Given the description of an element on the screen output the (x, y) to click on. 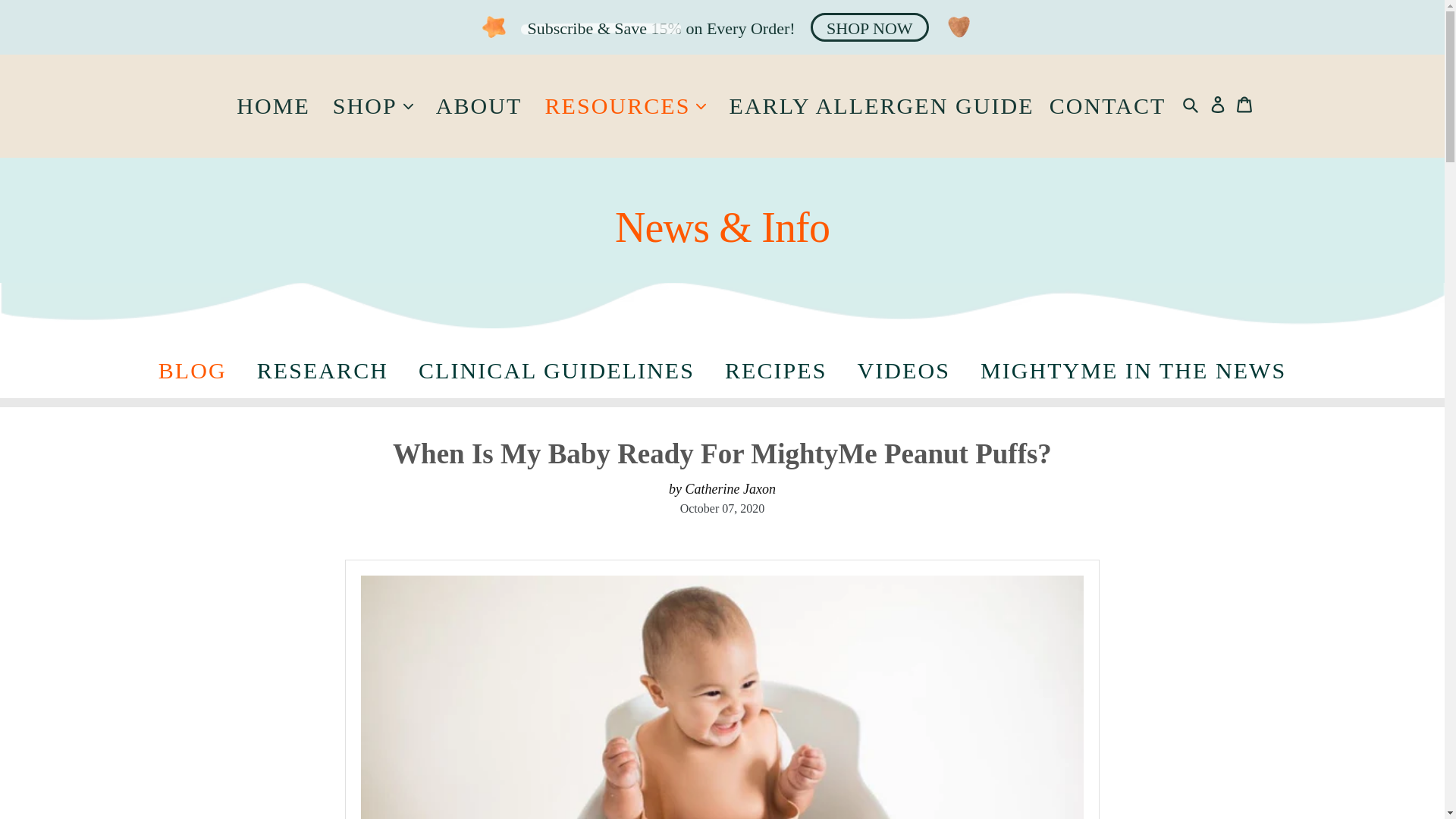
SHOP (365, 105)
HOME (272, 105)
RESOURCES (617, 105)
ABOUT (478, 105)
SHOP (372, 105)
RESOURCES (625, 105)
